Given the description of an element on the screen output the (x, y) to click on. 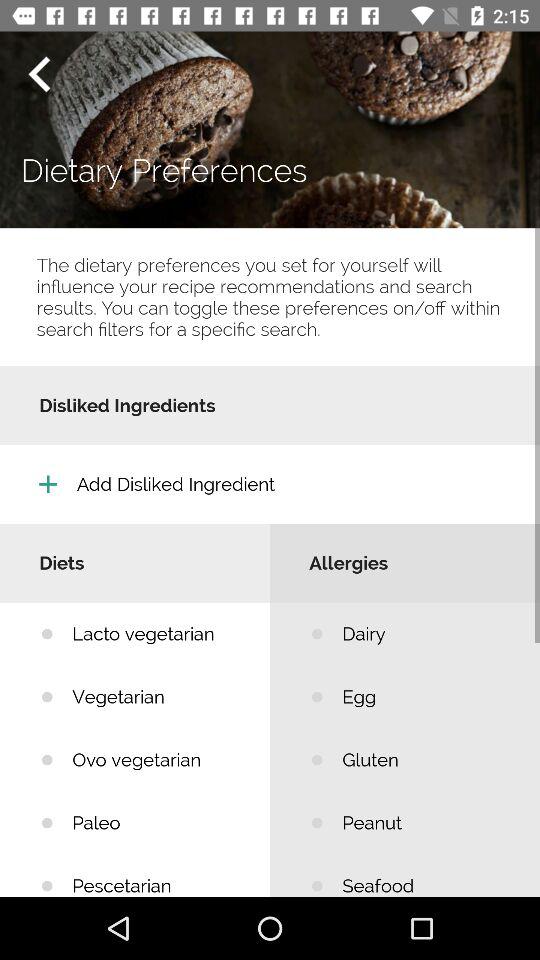
open icon to the right of the ovo vegetarian item (426, 822)
